Given the description of an element on the screen output the (x, y) to click on. 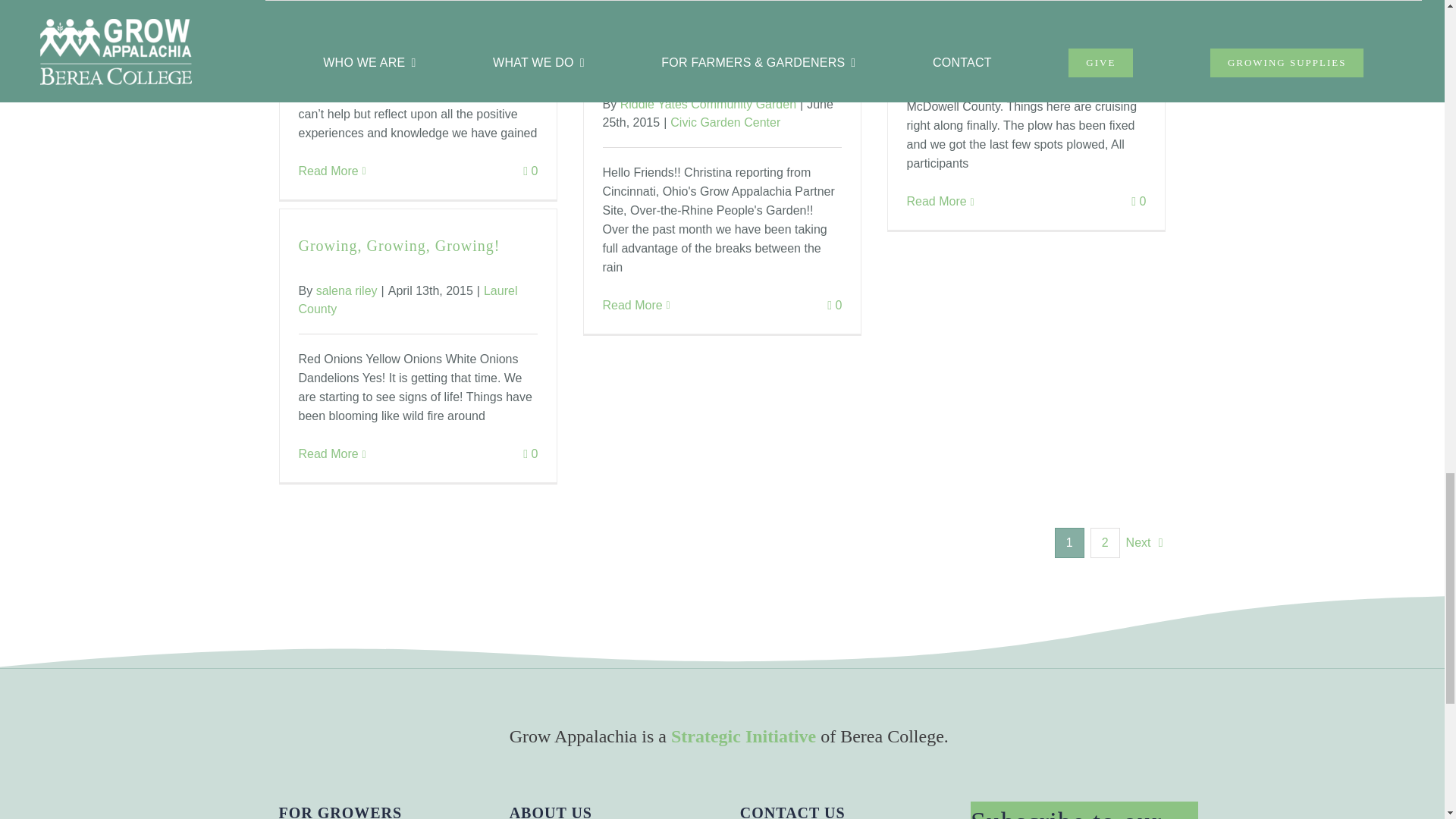
Posts by Riddle Yates Community Garden (708, 103)
Posts by loriosborne (954, 19)
Posts by salena riley (346, 290)
